Given the description of an element on the screen output the (x, y) to click on. 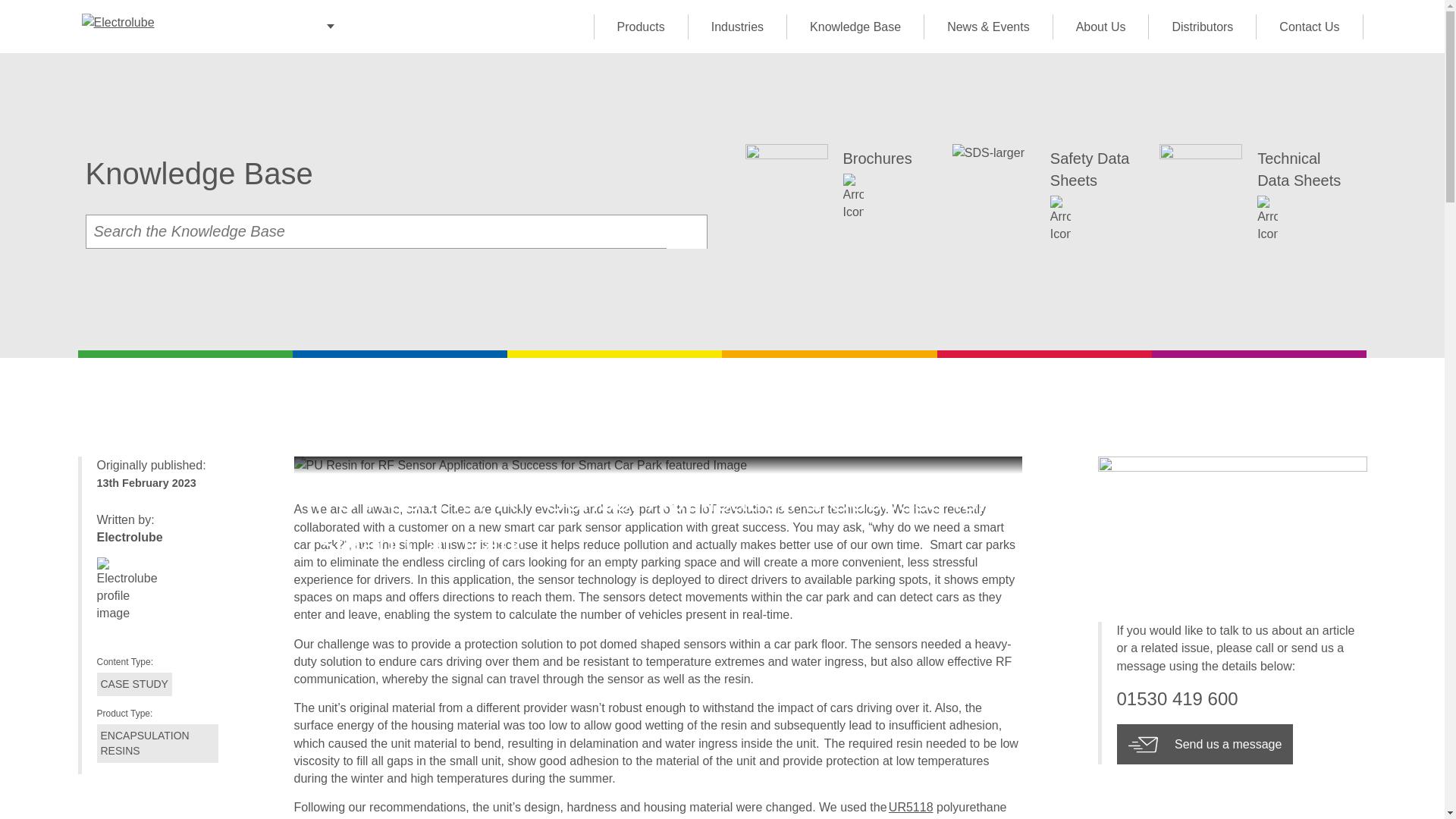
About Us (1100, 25)
Safety Data Sheets (1047, 201)
Technical Data Sheets (1254, 201)
Products (640, 25)
Distributors (1201, 25)
call us (1241, 699)
Knowledge Base (854, 25)
Go (685, 231)
Send us a message (1204, 743)
Brochures (839, 201)
Industries (736, 25)
Contact Us (1308, 25)
